Given the description of an element on the screen output the (x, y) to click on. 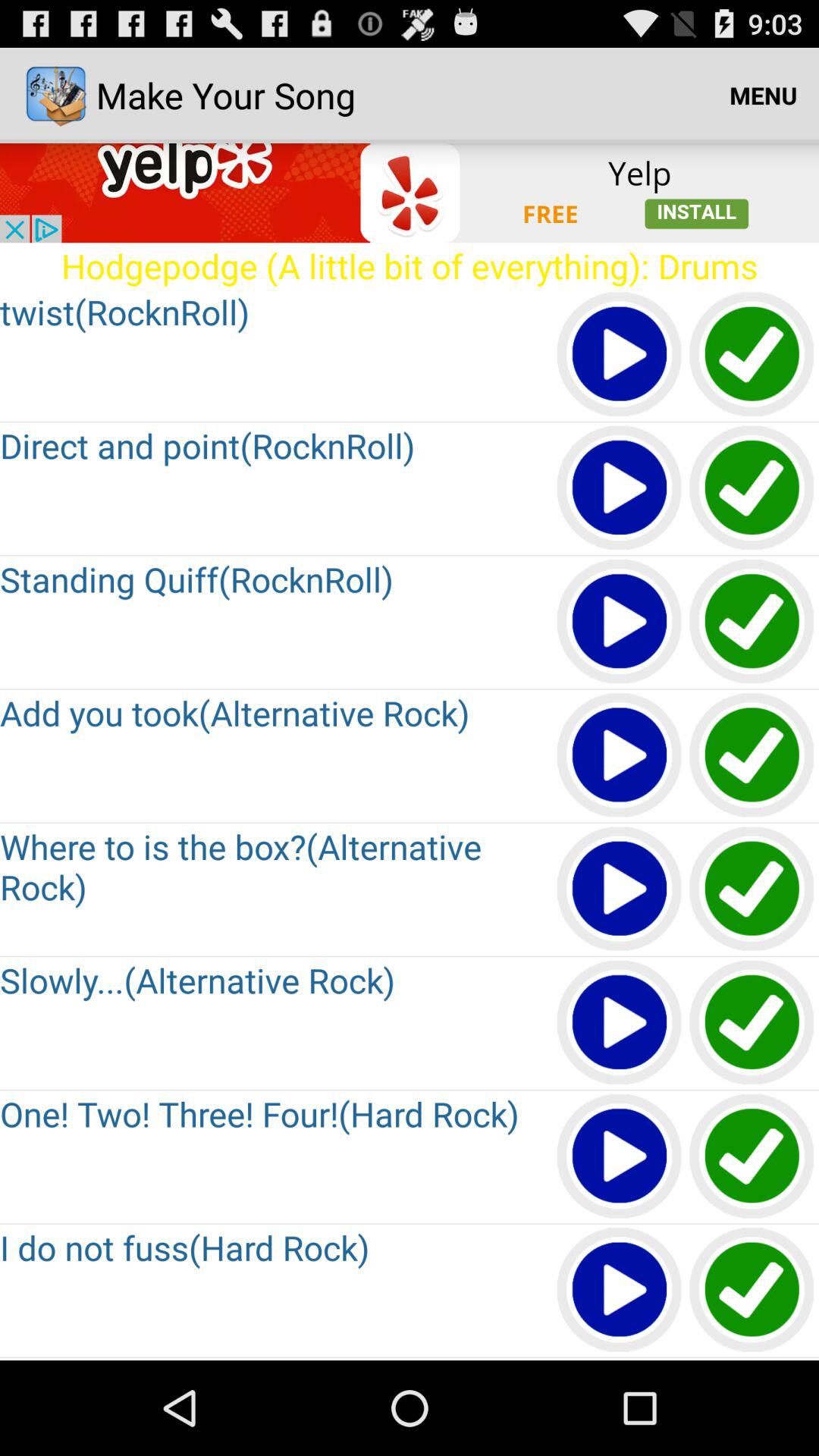
first check box (752, 354)
